Given the description of an element on the screen output the (x, y) to click on. 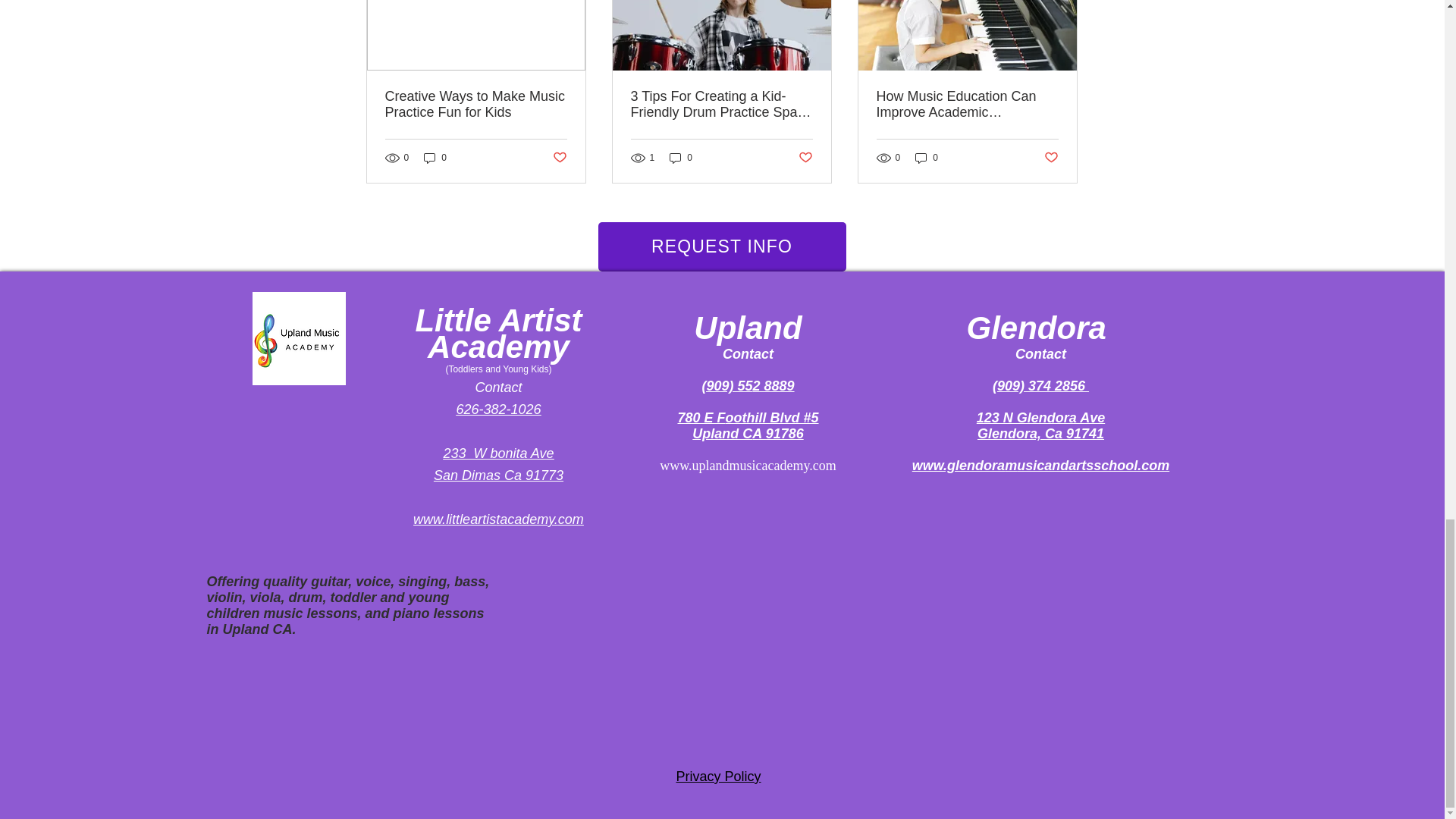
0 (681, 157)
REQUEST INFO (720, 246)
Post not marked as liked (1050, 157)
How Music Education Can Improve Academic Performance (967, 104)
Creative Ways to Make Music Practice Fun for Kids (476, 104)
0 (435, 157)
Post not marked as liked (804, 157)
Post not marked as liked (558, 157)
0 (926, 157)
